Given the description of an element on the screen output the (x, y) to click on. 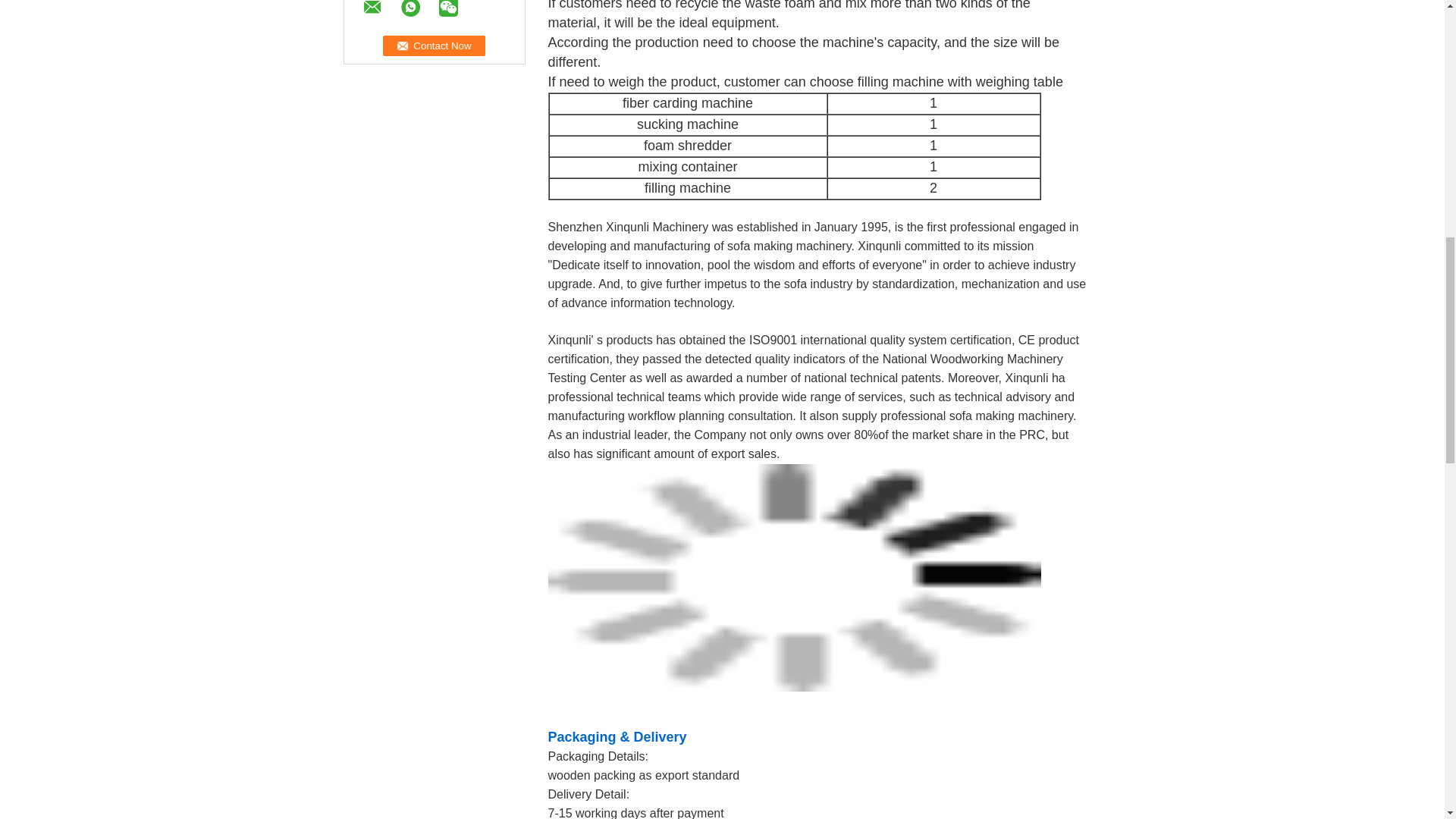
Contact Now (433, 46)
